Given the description of an element on the screen output the (x, y) to click on. 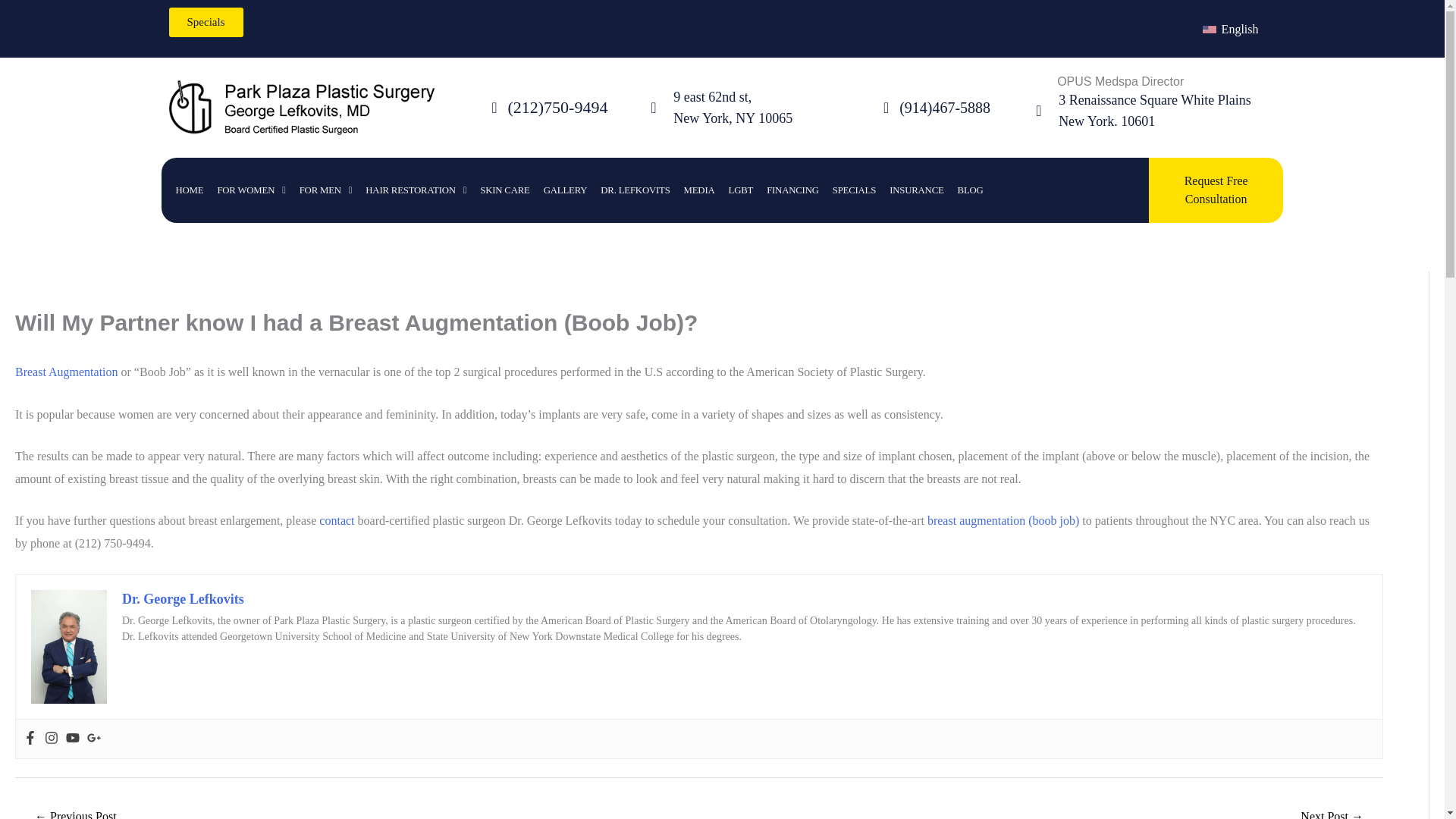
Specials (205, 21)
Breast Lifting with Augmentation (1331, 811)
Breast Lifting with Minimal Scarring (75, 811)
English (1230, 29)
